Given the description of an element on the screen output the (x, y) to click on. 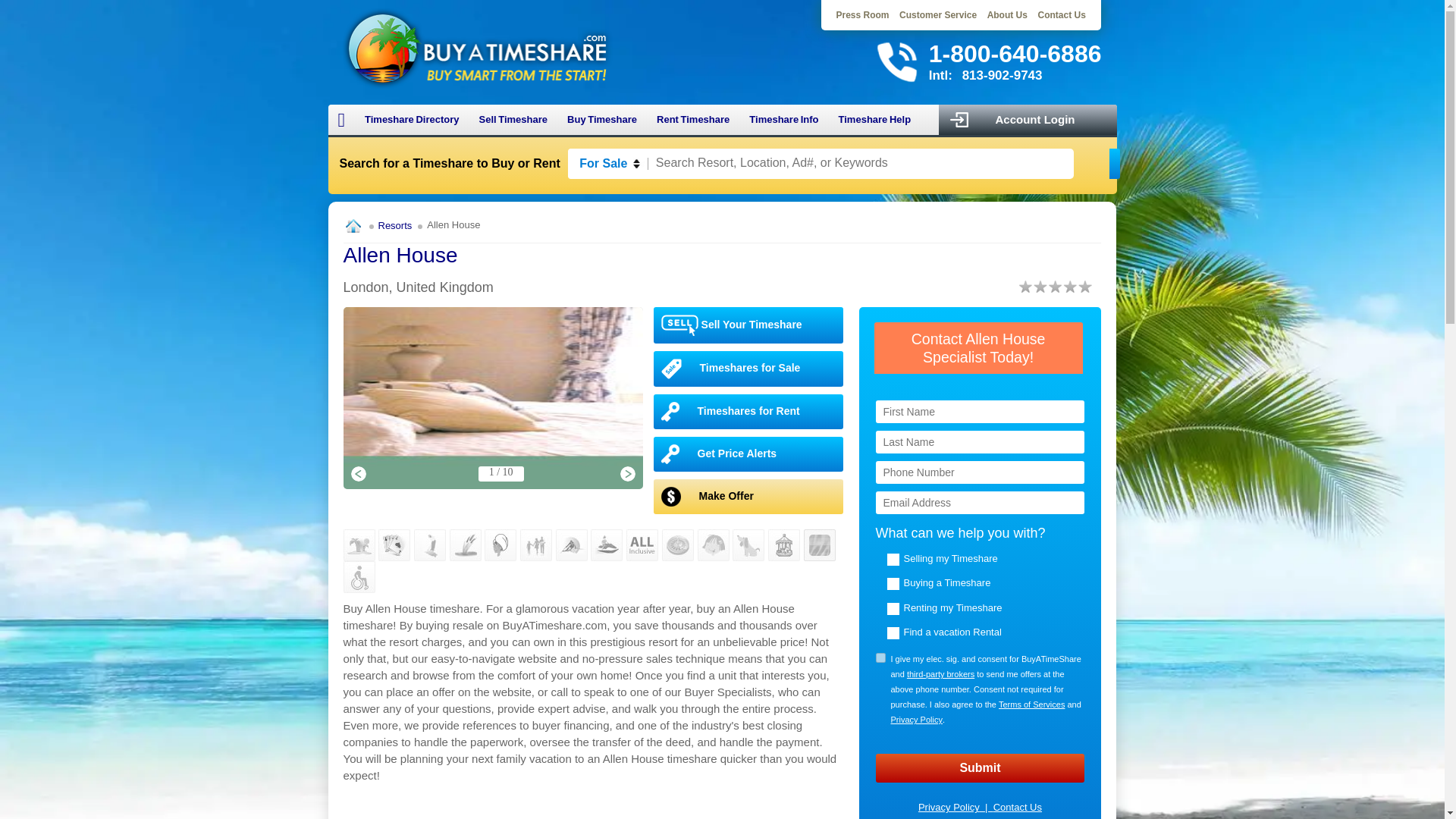
1-800-640-6886 (1015, 53)
Timeshare Directory (411, 119)
Contact Us (1060, 14)
About Us (1007, 14)
Last Name (979, 441)
Email (979, 502)
BuyATimeshare (476, 47)
1 (880, 657)
Customer Service (937, 14)
813-902-9743 (1002, 74)
Press Room (862, 14)
Submit (979, 767)
Phone Number (979, 472)
Sell Allen House timeshare (748, 325)
checkbox (880, 657)
